Given the description of an element on the screen output the (x, y) to click on. 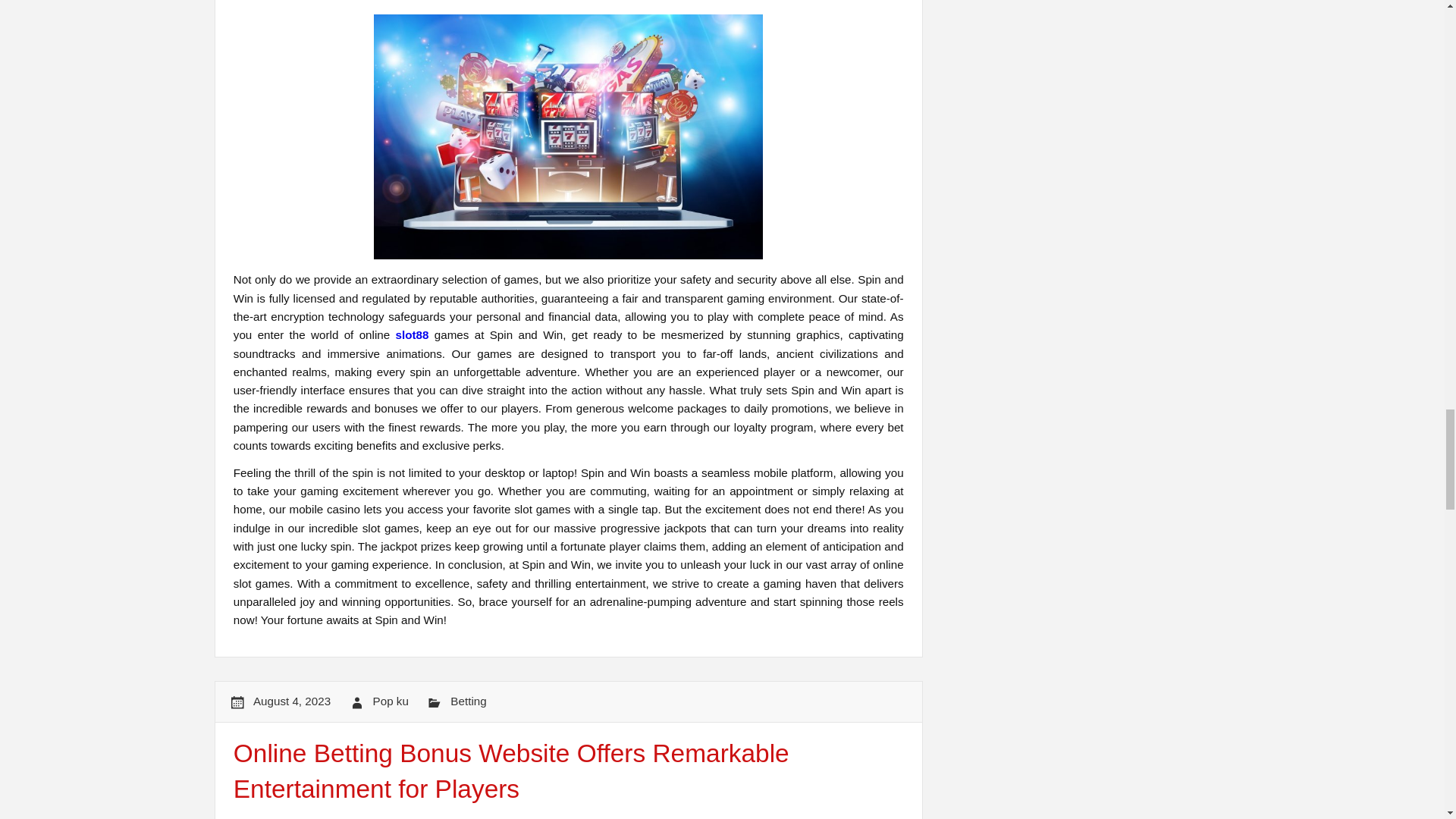
11:12 am (291, 700)
August 4, 2023 (291, 700)
slot88 (412, 334)
View all posts by Pop ku (390, 700)
